Given the description of an element on the screen output the (x, y) to click on. 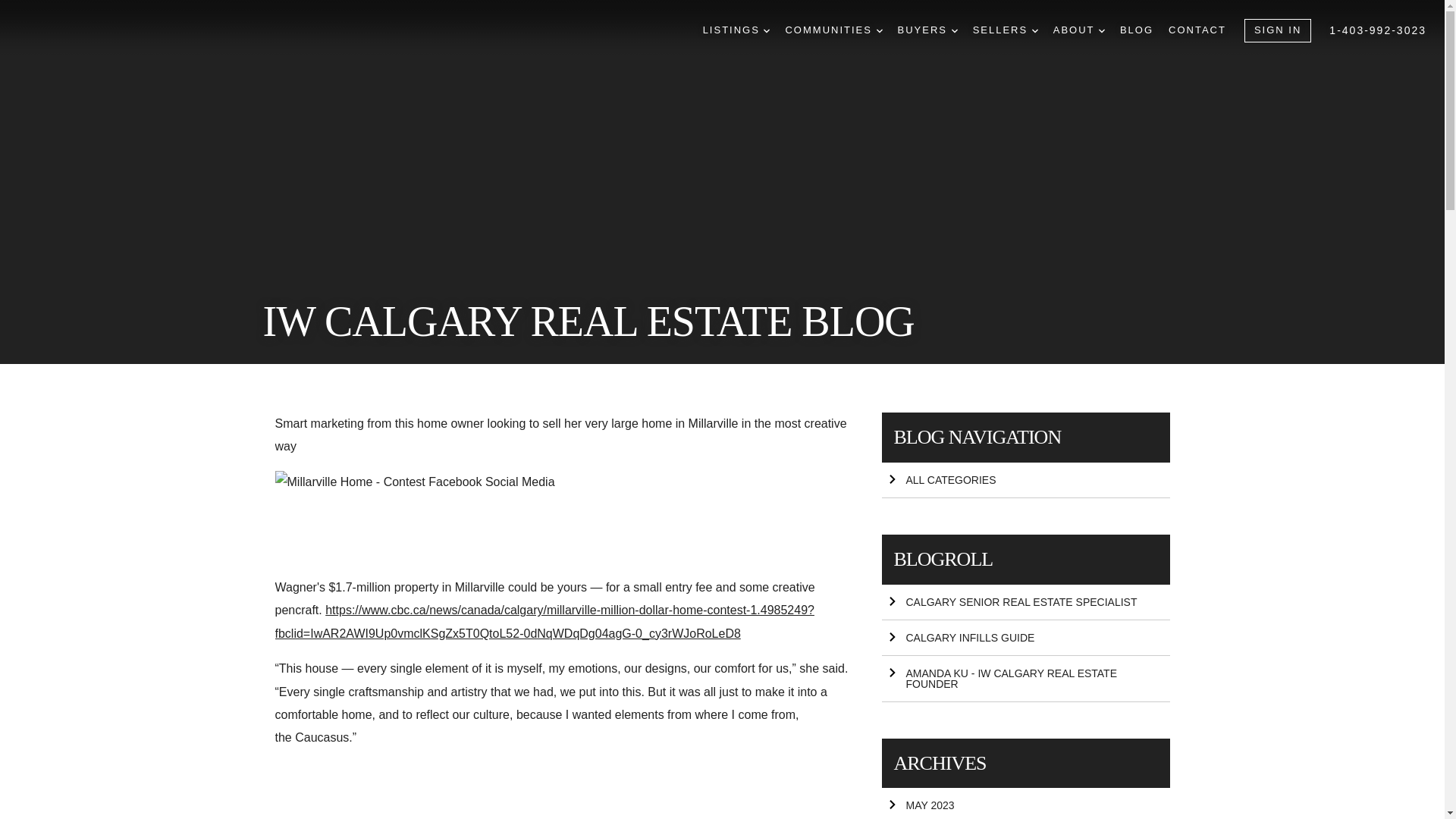
ABOUT DROPDOWN ARROW (1078, 30)
LISTINGS DROPDOWN ARROW (736, 30)
DROPDOWN ARROW (1102, 30)
DROPDOWN ARROW (766, 30)
DROPDOWN ARROW (955, 30)
CONTACT (1197, 30)
SELLERS DROPDOWN ARROW (1005, 30)
COMMUNITIES DROPDOWN ARROW (833, 30)
BUYERS DROPDOWN ARROW (928, 30)
BLOG (1136, 30)
